Given the description of an element on the screen output the (x, y) to click on. 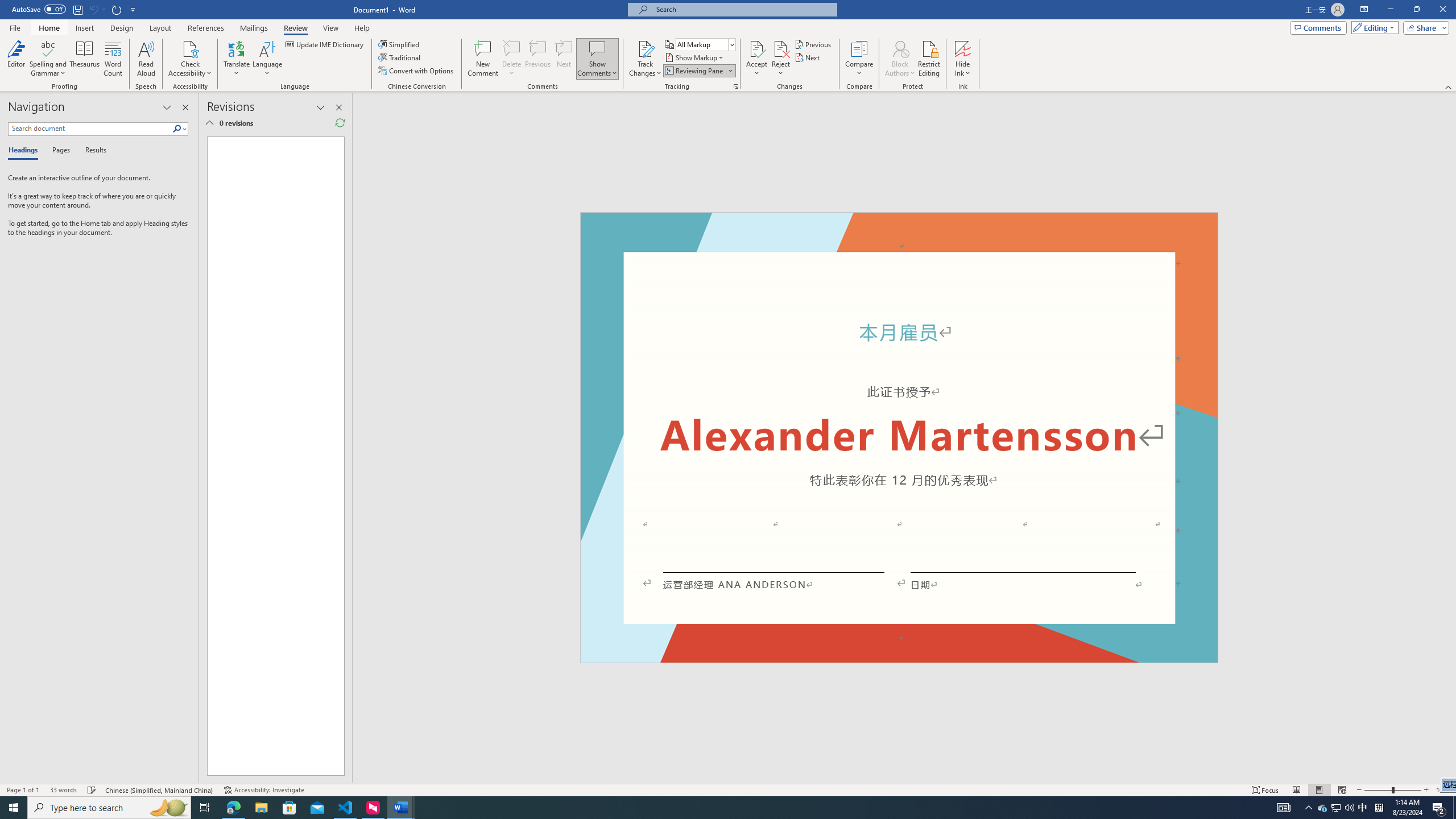
Accessibility Checker Accessibility: Investigate (263, 790)
Page 1 content (898, 445)
Simplified (400, 44)
Traditional (400, 56)
Page Number Page 1 of 1 (22, 790)
Block Authors (900, 48)
Repeat Doc Close (117, 9)
Reject and Move to Next (780, 48)
Spelling and Grammar (48, 58)
